Given the description of an element on the screen output the (x, y) to click on. 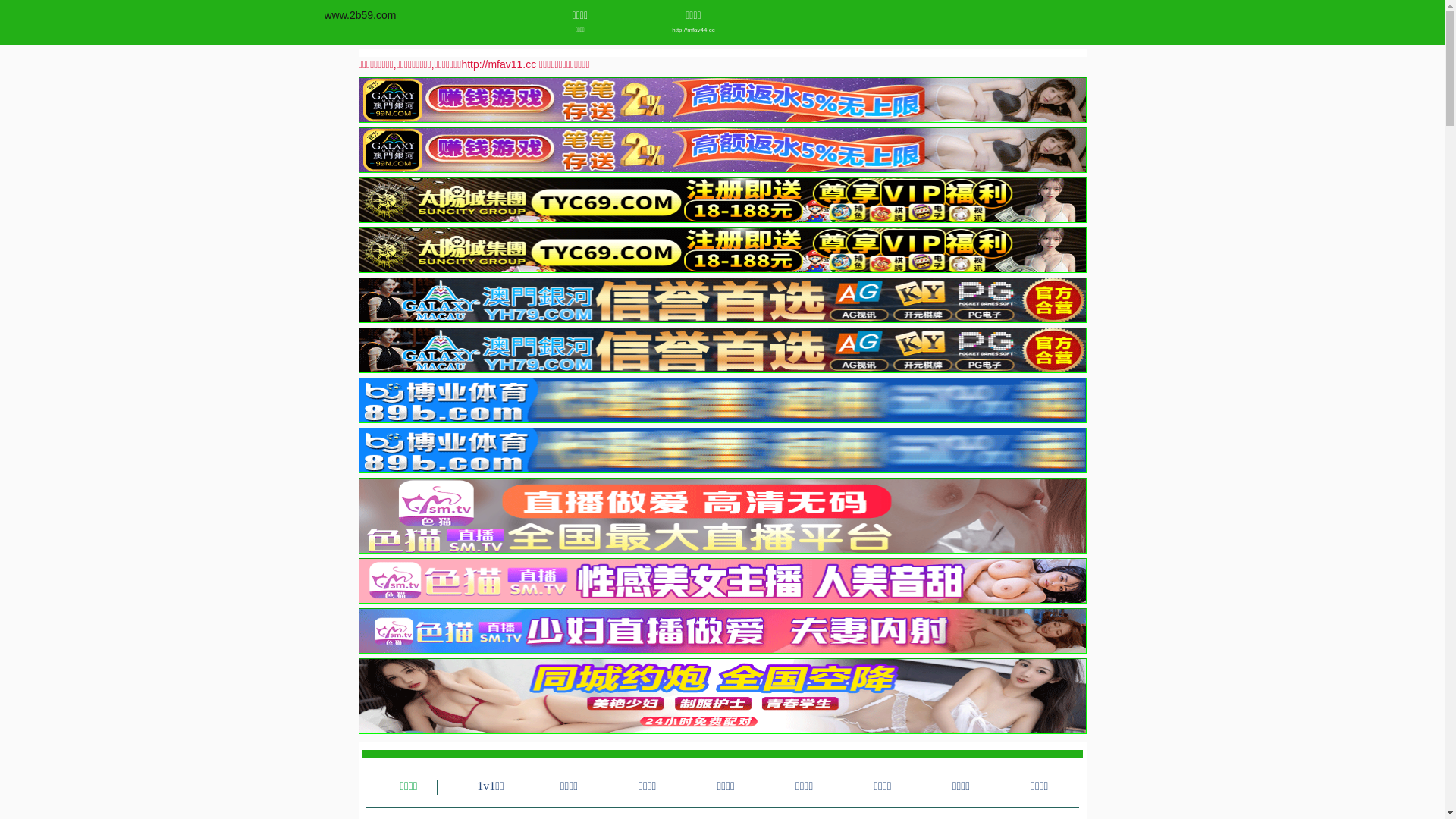
www.2b59.com Element type: text (360, 15)
http://mfav44.cc Element type: text (693, 29)
